Given the description of an element on the screen output the (x, y) to click on. 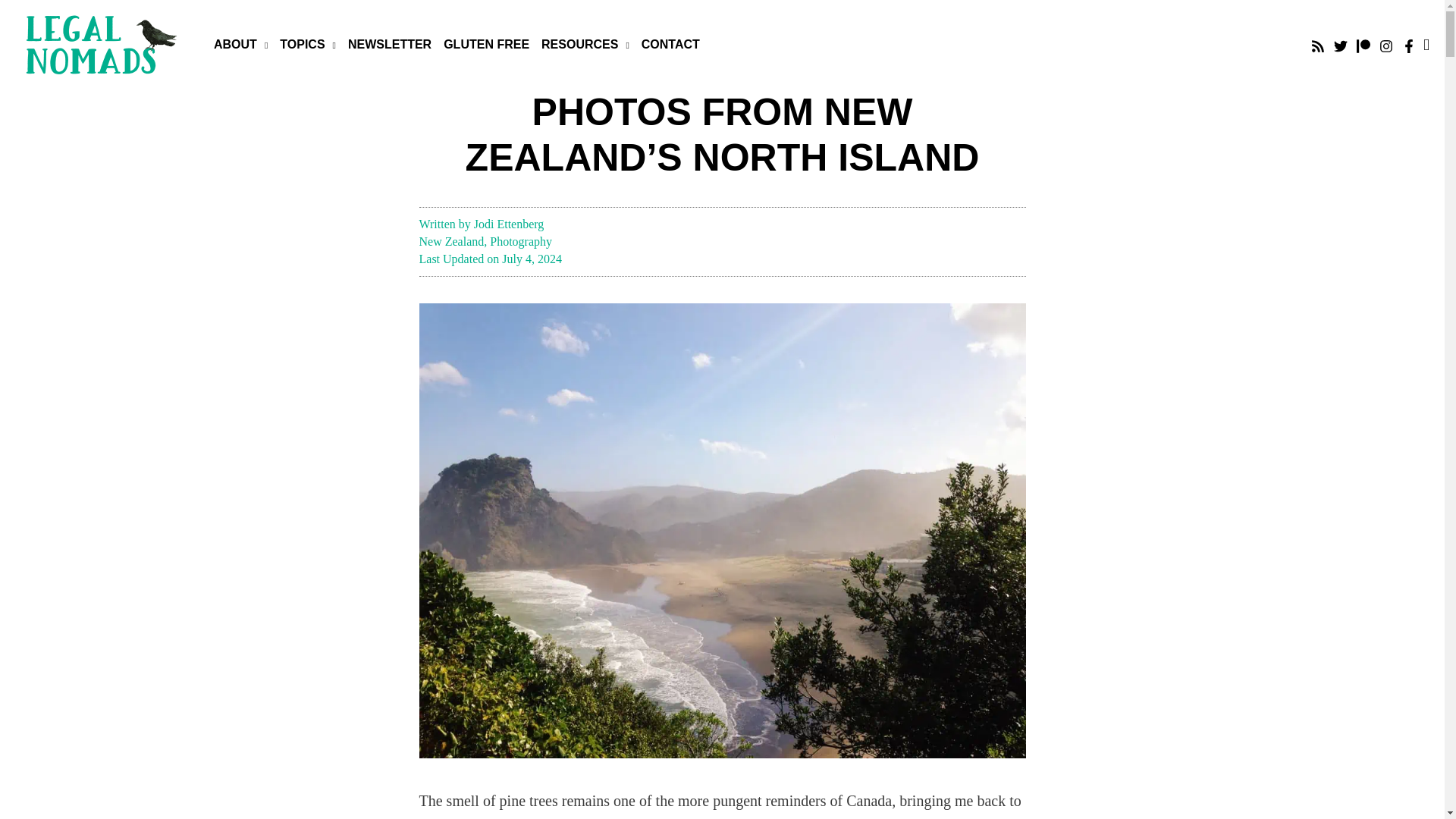
ABOUT (240, 44)
CONTACT (670, 44)
Posts by Jodi Ettenberg (509, 223)
GLUTEN FREE (486, 44)
RESOURCES (584, 44)
TOPICS (307, 44)
NEWSLETTER (390, 44)
